Given the description of an element on the screen output the (x, y) to click on. 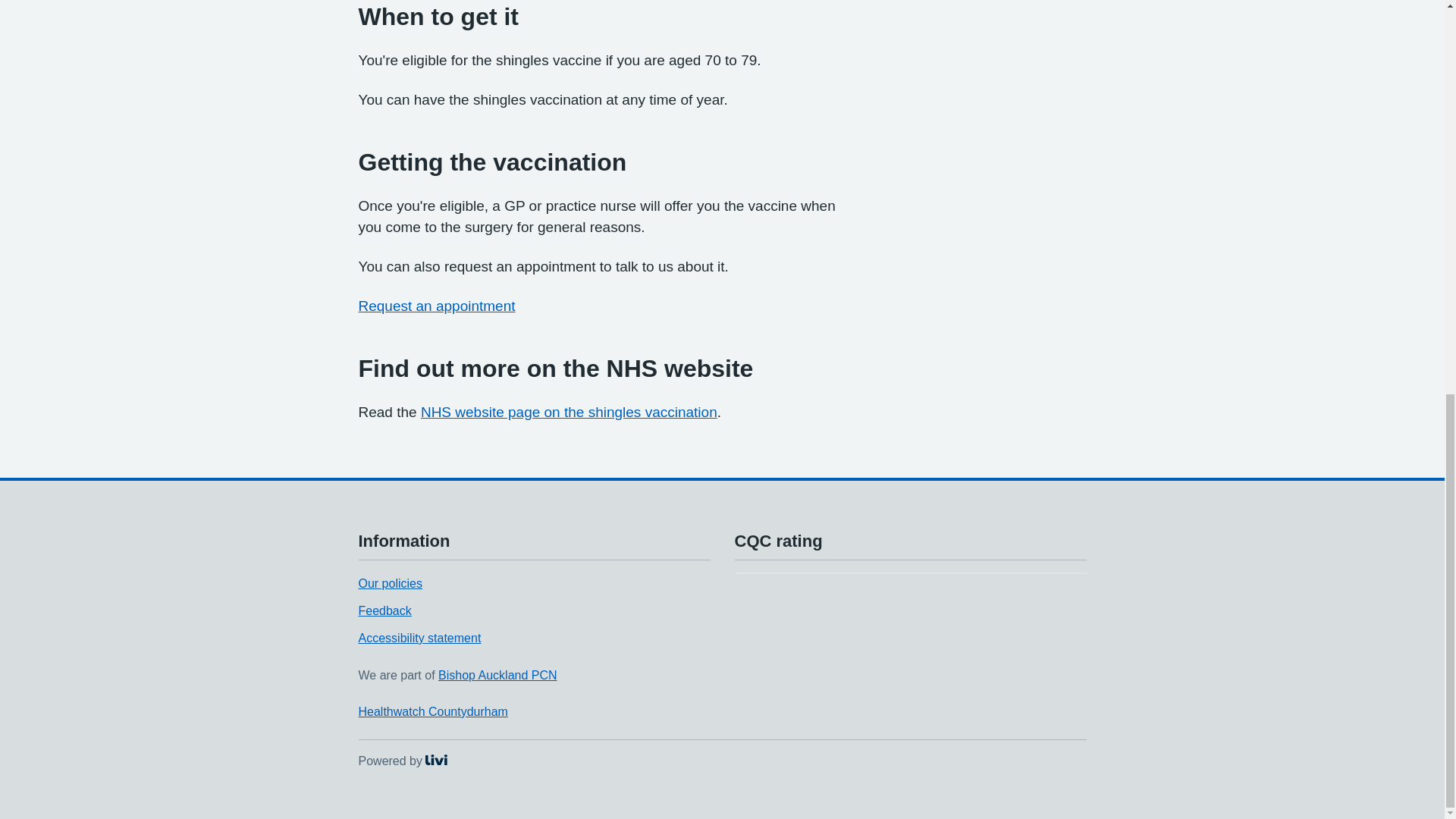
Bishop Auckland PCN (497, 675)
Feedback (402, 760)
Our policies (384, 610)
Accessibility statement (390, 583)
Healthwatch Countydurham (419, 637)
NHS website page on the shingles vaccination (432, 711)
Request an appointment (568, 412)
